Given the description of an element on the screen output the (x, y) to click on. 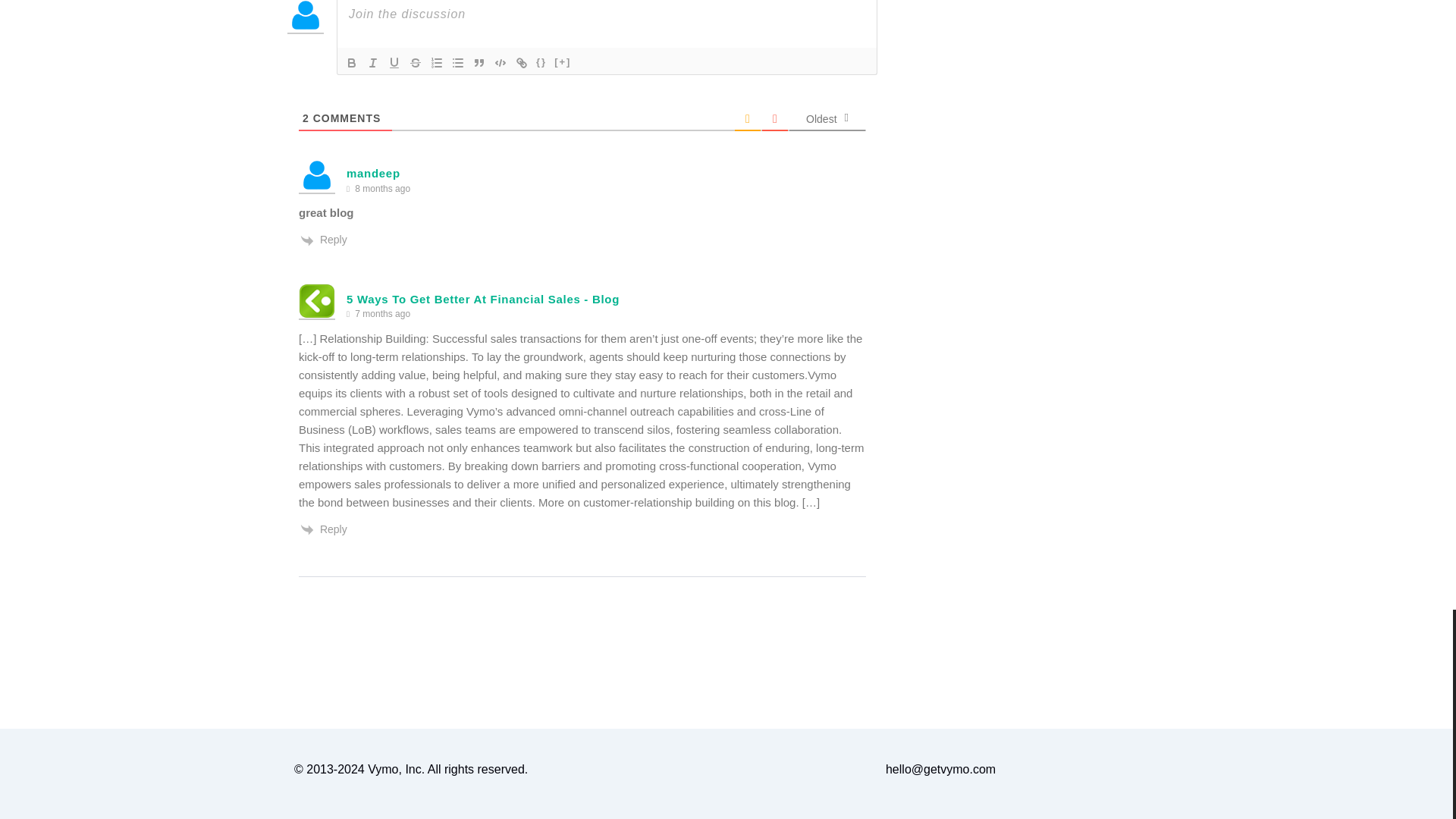
Ordered List (436, 63)
Strike (415, 63)
Code Block (500, 63)
ordered (436, 63)
Source Code (541, 63)
Bold (351, 63)
Underline (394, 63)
Link (521, 63)
Italic (373, 63)
Unordered List (457, 63)
Blockquote (478, 63)
